Given the description of an element on the screen output the (x, y) to click on. 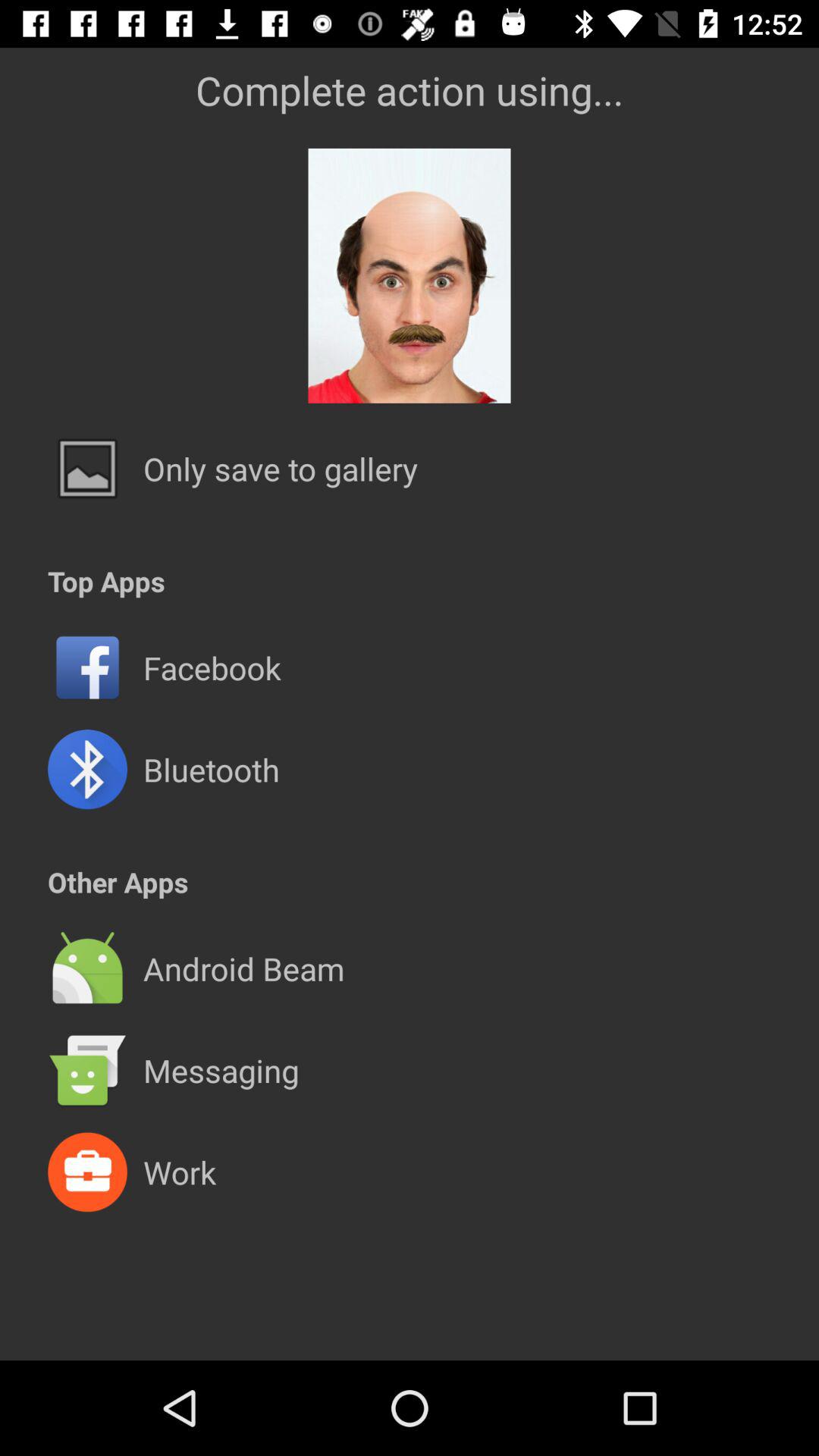
click the top apps icon (105, 581)
